Given the description of an element on the screen output the (x, y) to click on. 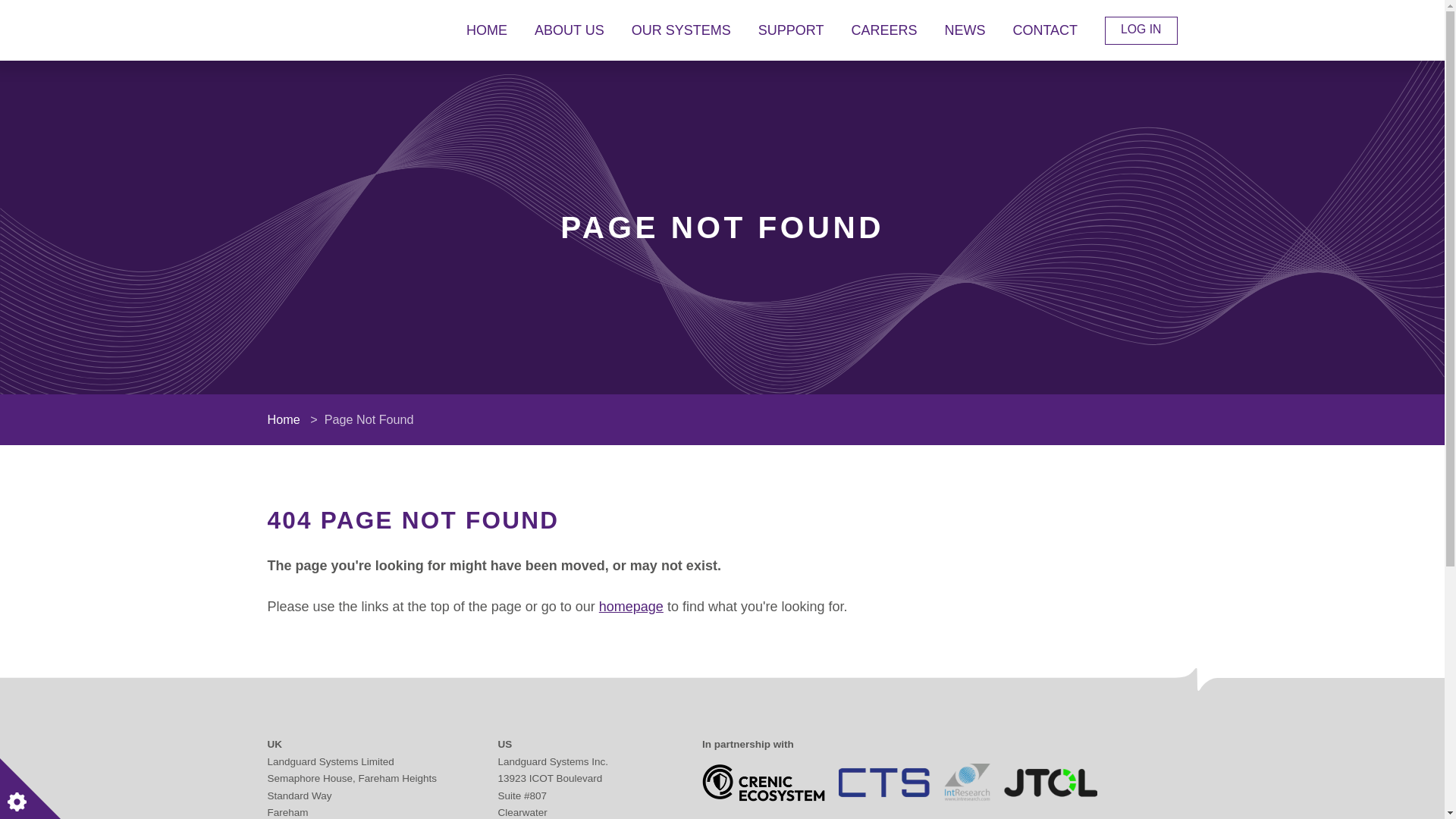
HOME (485, 30)
LOG IN (1140, 30)
OUR SYSTEMS (680, 30)
SUPPORT (791, 30)
NEWS (964, 30)
CONTACT (1044, 30)
Home (630, 606)
Home (282, 418)
ABOUT US (569, 30)
CAREERS (883, 30)
homepage (630, 606)
